Given the description of an element on the screen output the (x, y) to click on. 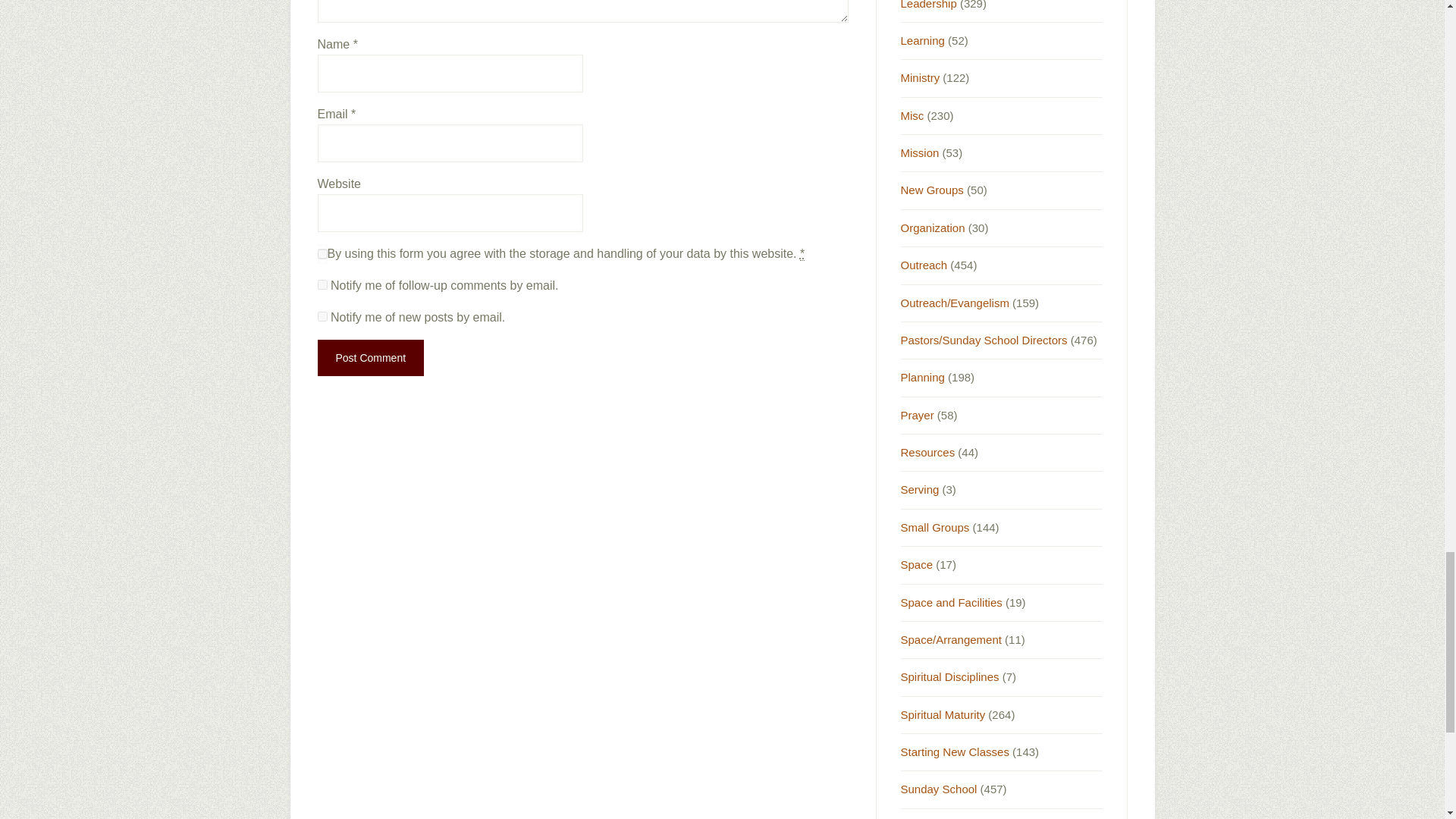
Post Comment (370, 357)
subscribe (321, 316)
1 (321, 253)
You need to accept this checkbox. (802, 254)
subscribe (321, 284)
Post Comment (370, 357)
